Given the description of an element on the screen output the (x, y) to click on. 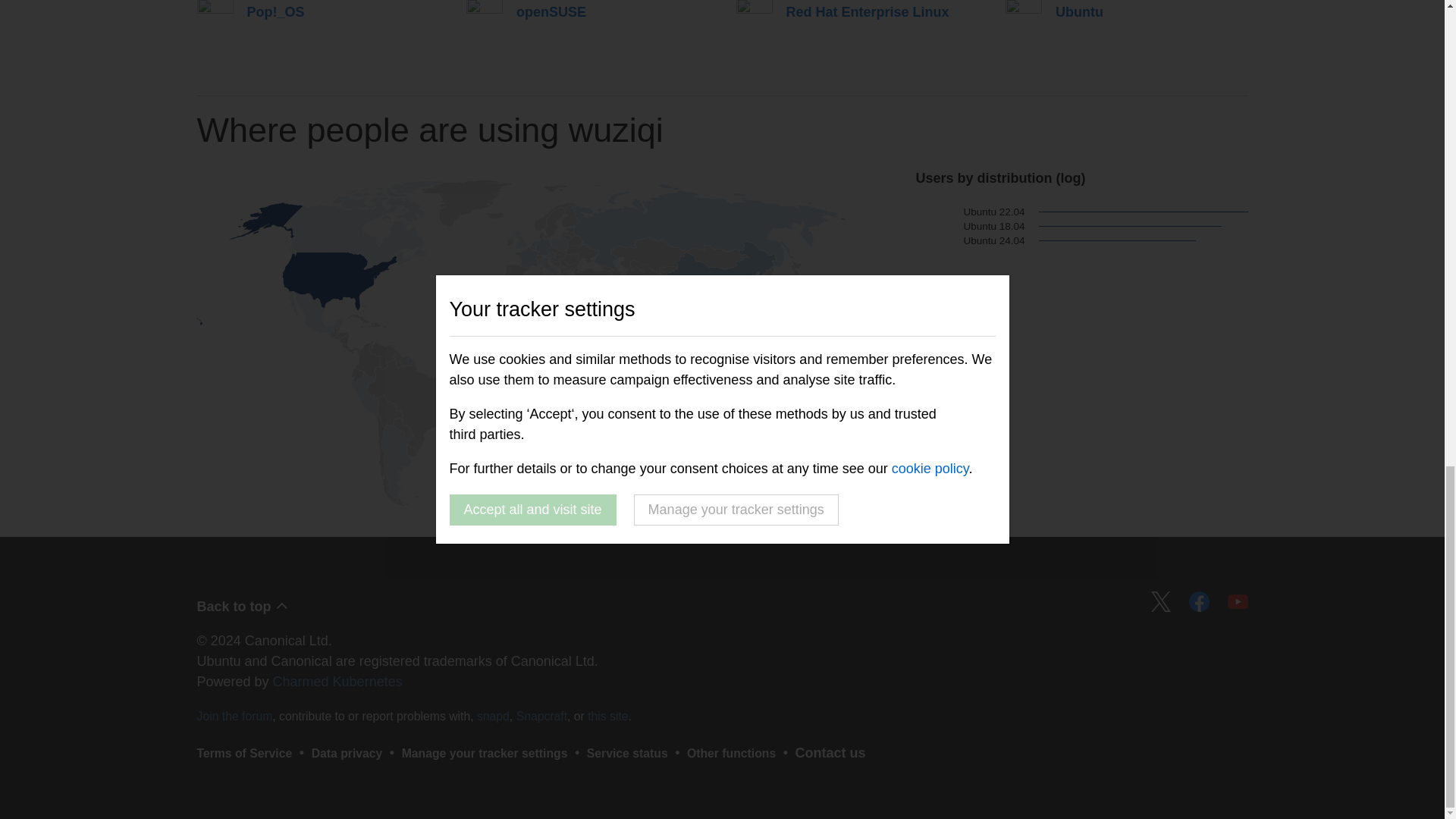
Ubuntu 24.04 (970, 241)
Ubuntu 22.04 (970, 212)
Ubuntu 18.04 (970, 226)
